Given the description of an element on the screen output the (x, y) to click on. 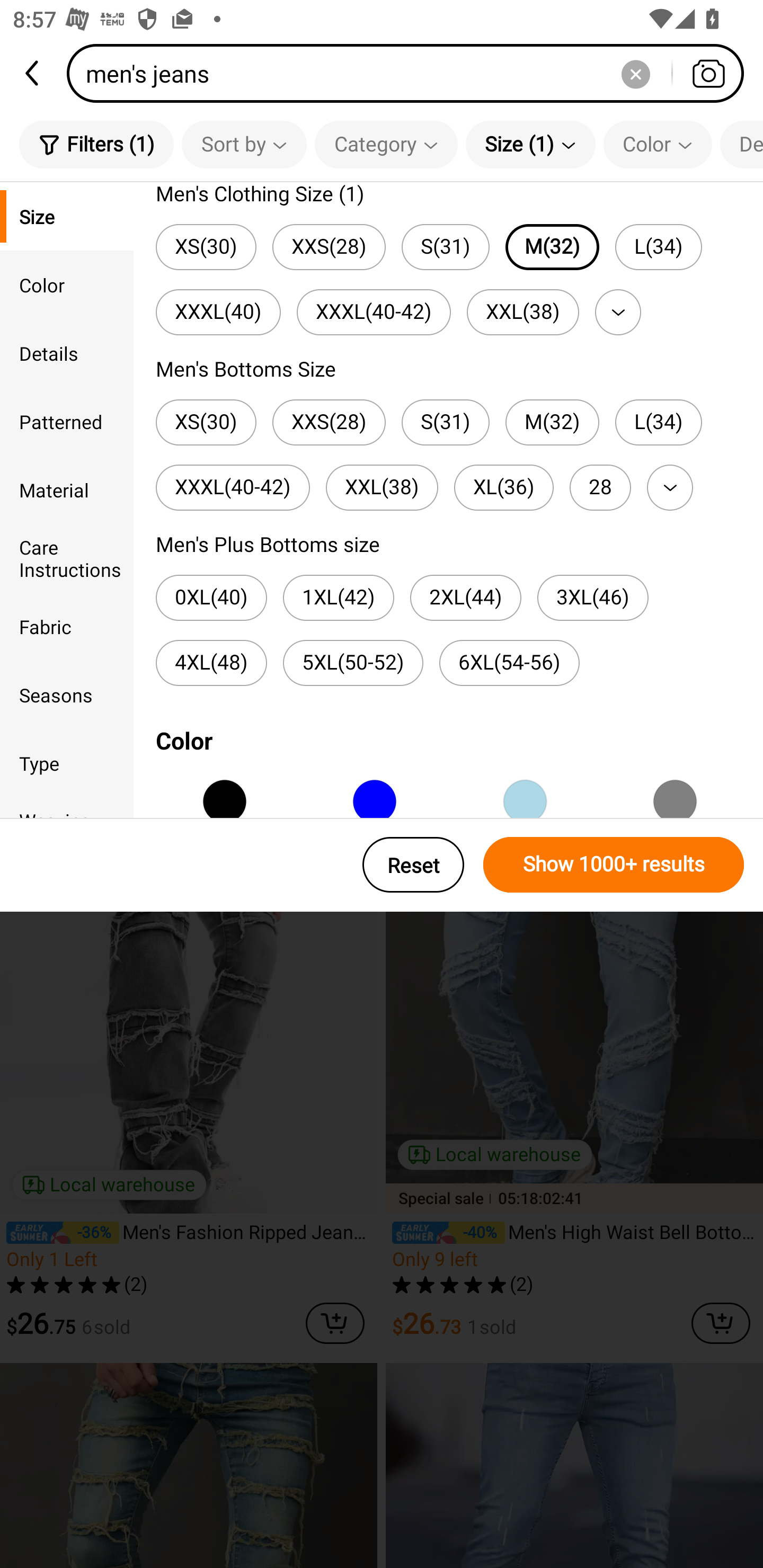
back (33, 72)
men's jeans (411, 73)
Delete search history (635, 73)
Search by photo (708, 73)
Filters (1) (96, 143)
Sort by (243, 143)
Category (385, 143)
Size (1) (530, 143)
Color (657, 143)
Size (66, 215)
XS(30) (205, 246)
XXS(28) (329, 246)
S(31) (445, 246)
M(32) (551, 246)
L(34) (657, 246)
Color (66, 284)
XXXL(40) (217, 311)
XXXL(40-42) (373, 311)
XXL(38) (522, 311)
More (617, 311)
Details (66, 352)
Patterned (66, 421)
XS(30) (205, 422)
XXS(28) (329, 422)
S(31) (445, 422)
M(32) (551, 422)
L(34) (657, 422)
Material (66, 489)
XXXL(40-42) (232, 487)
XXL(38) (381, 487)
XL(36) (503, 487)
28 (600, 487)
More (669, 487)
Care Instructions (66, 557)
0XL(40) (211, 597)
1XL(42) (338, 597)
2XL(44) (465, 597)
3XL(46) (592, 597)
Fabric (66, 626)
4XL(48) (211, 662)
5XL(50-52) (353, 662)
6XL(54-56) (509, 662)
Seasons (66, 694)
Type (66, 762)
Reset (412, 864)
Show 1000+ results (612, 864)
